Given the description of an element on the screen output the (x, y) to click on. 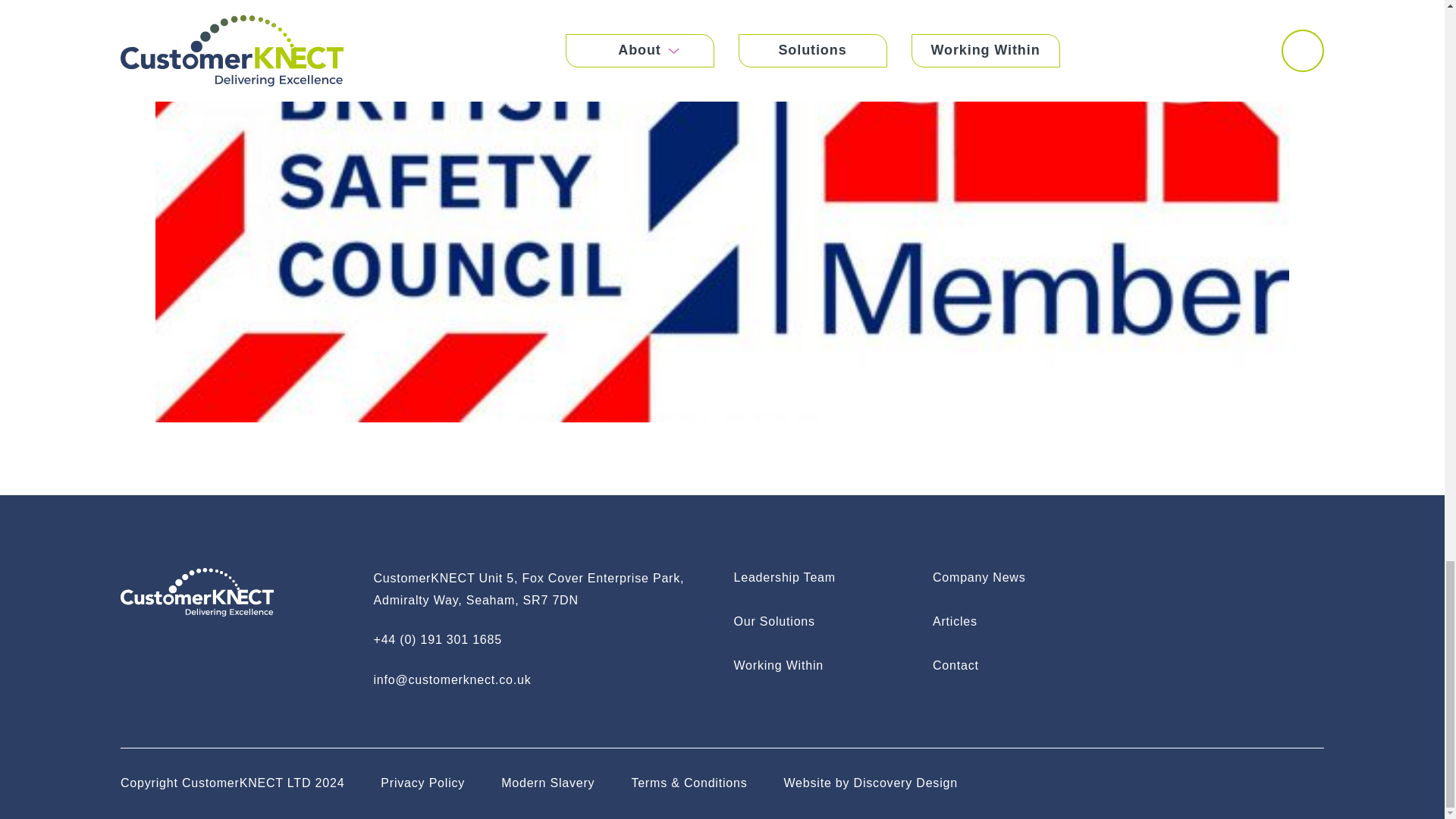
Contact (1026, 665)
Working Within (826, 665)
Company News (1026, 578)
CustomerKNECT (196, 592)
Leadership Team (826, 578)
Our Solutions (826, 621)
Articles (1026, 621)
